Given the description of an element on the screen output the (x, y) to click on. 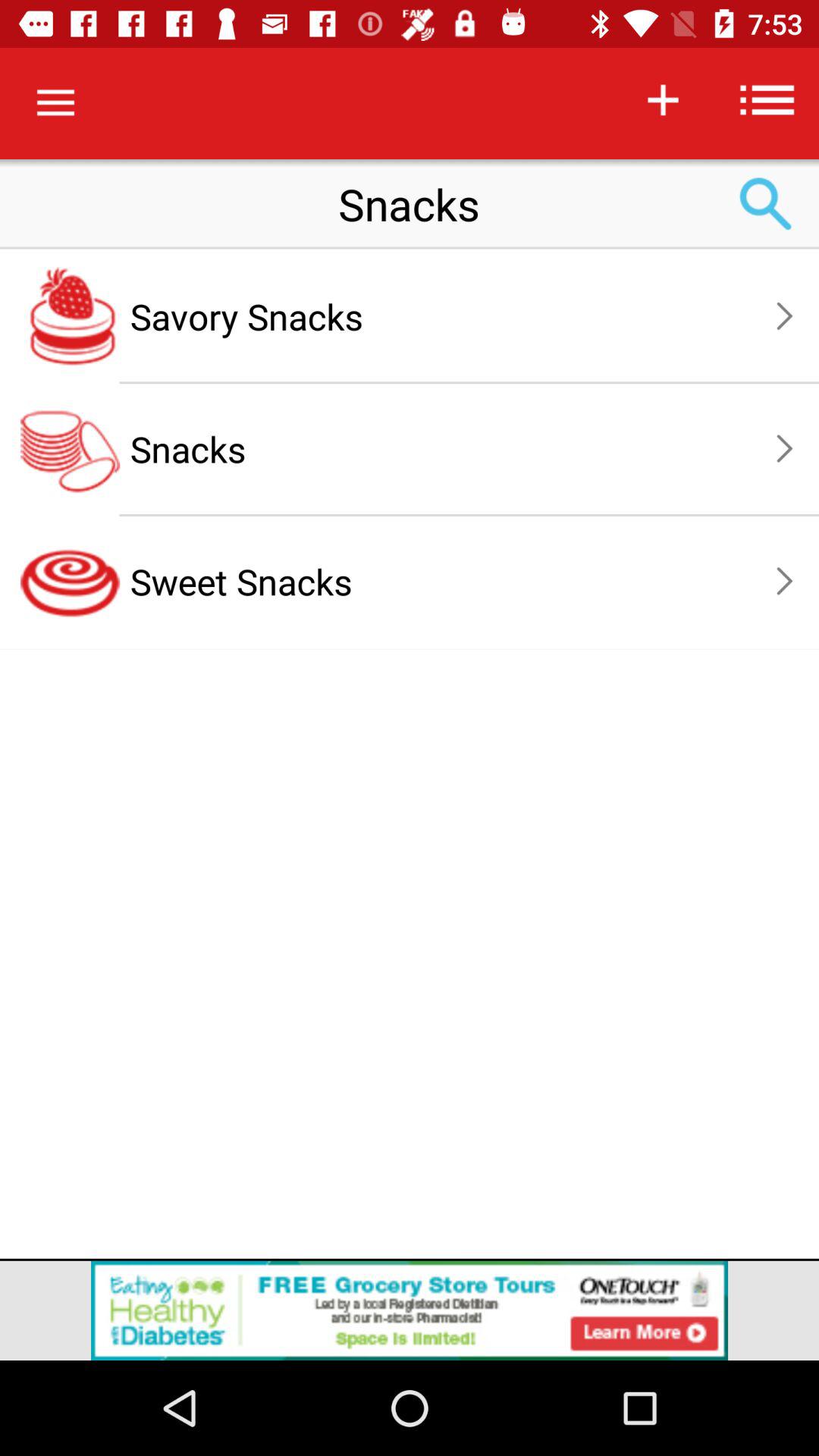
close the add (409, 1310)
